Given the description of an element on the screen output the (x, y) to click on. 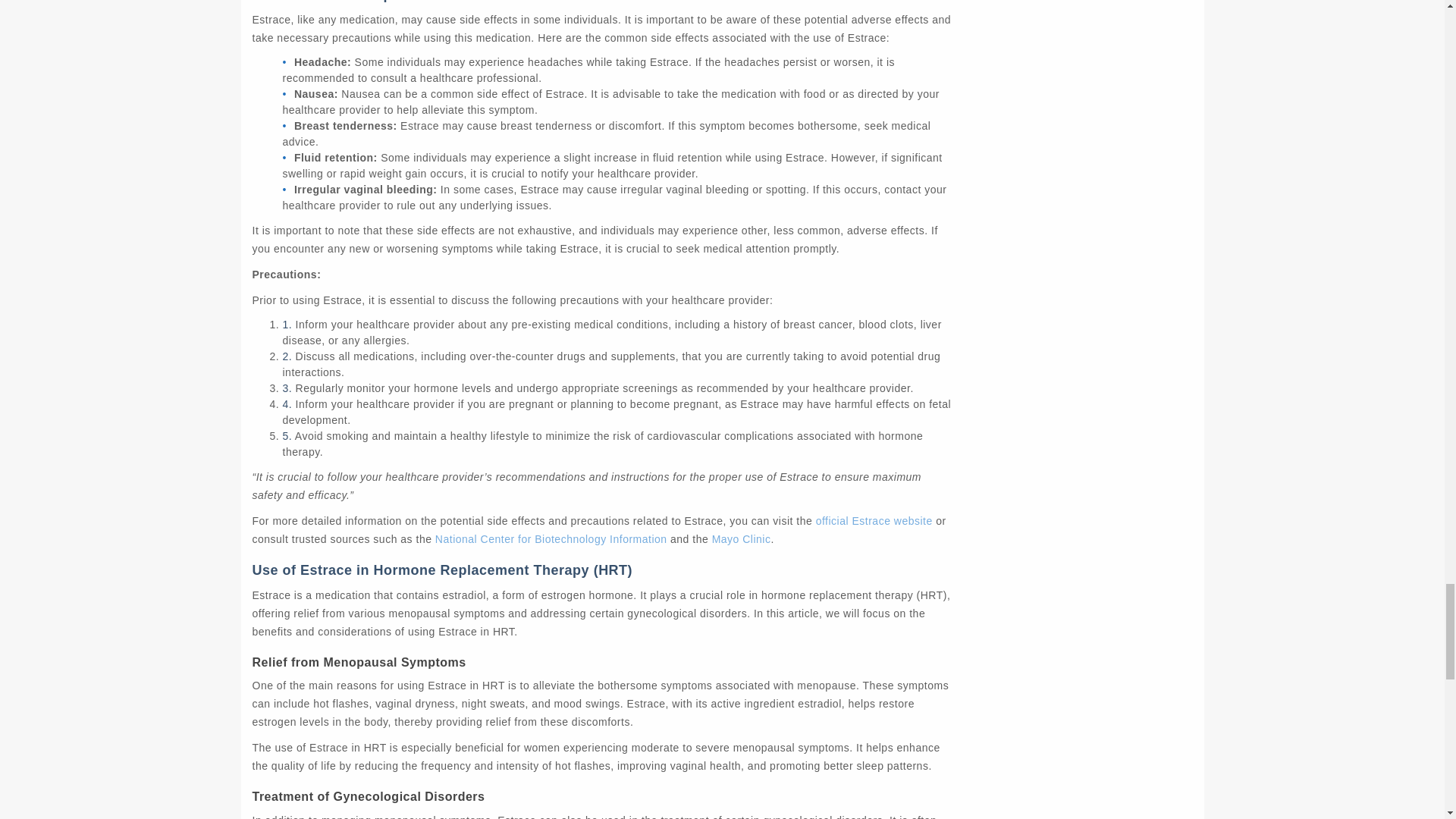
Mayo Clinic (741, 539)
National Center for Biotechnology Information (550, 539)
official Estrace website (874, 521)
